Given the description of an element on the screen output the (x, y) to click on. 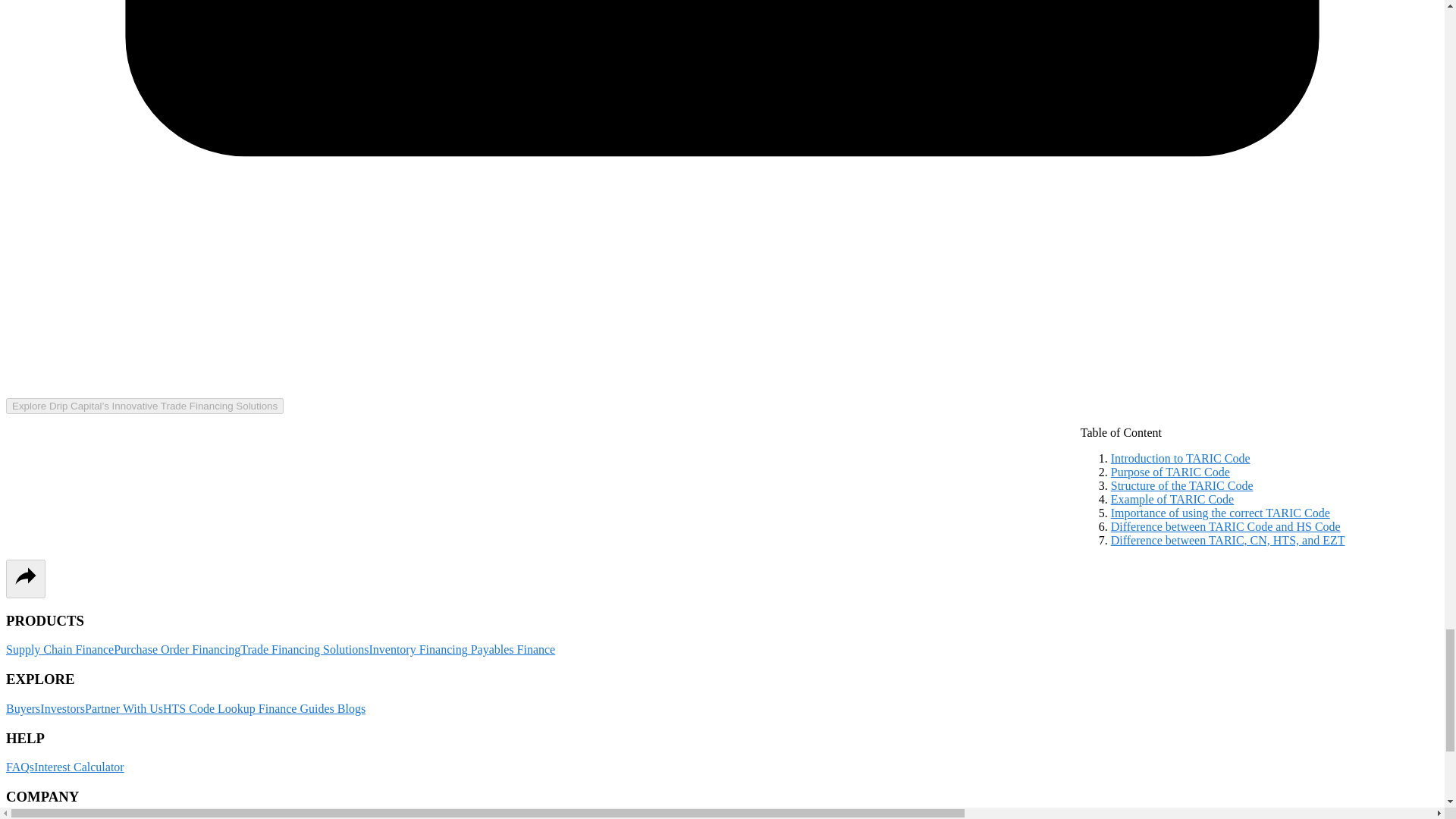
Difference between TARIC, CN, HTS, and EZT (1227, 540)
Example of TARIC Code (1171, 499)
Structure of the TARIC Code (1181, 485)
Purpose of TARIC Code (1170, 472)
Importance of using the correct TARIC Code (1220, 512)
Difference between TARIC Code and HS Code (1225, 526)
Introduction to TARIC Code (1180, 458)
